Given the description of an element on the screen output the (x, y) to click on. 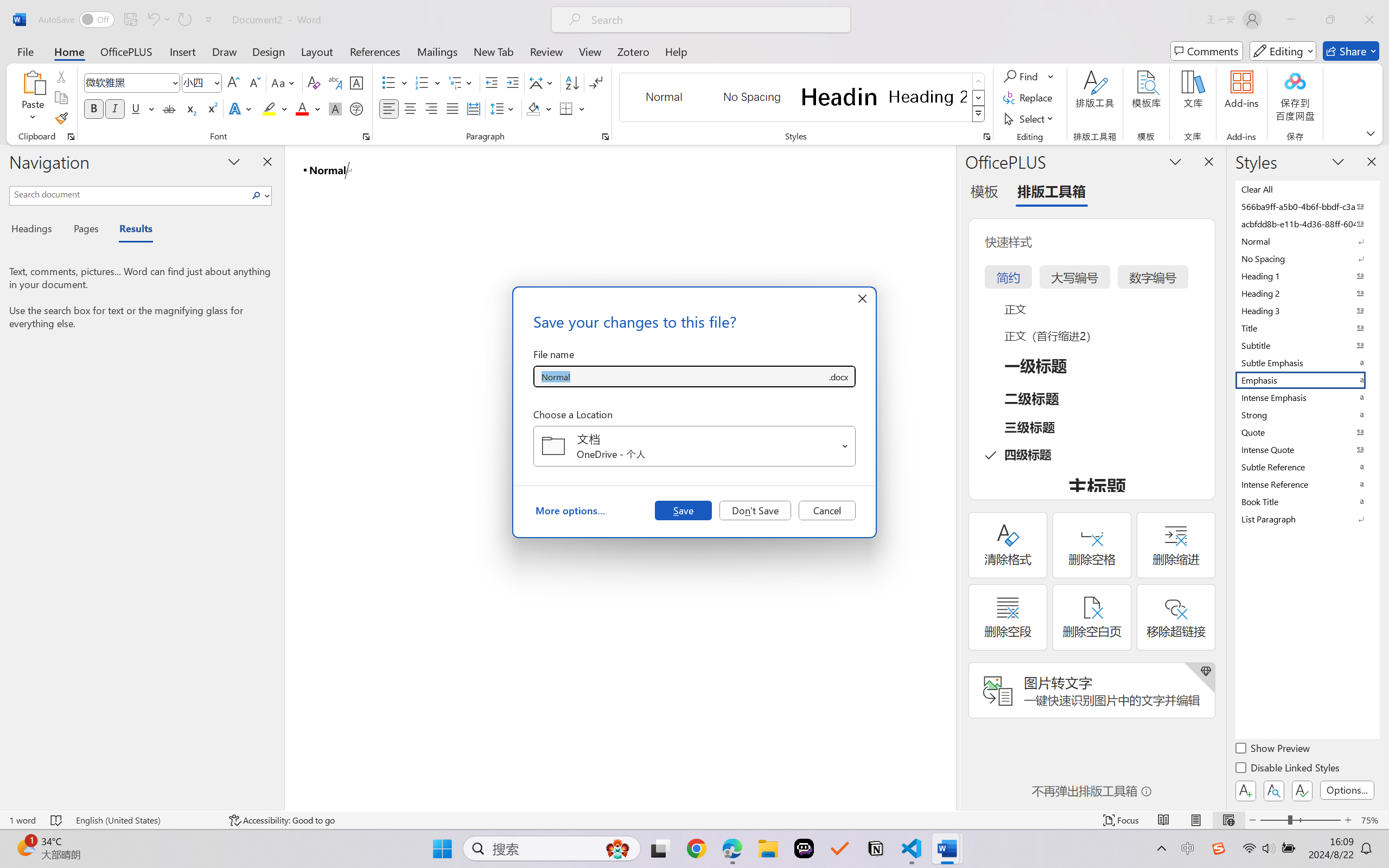
Subtle Emphasis (1306, 362)
Clear All (1306, 188)
Undo Style (158, 19)
Close (1369, 19)
File Tab (24, 51)
Class: MsoCommandBar (694, 819)
Poe (804, 848)
